Given the description of an element on the screen output the (x, y) to click on. 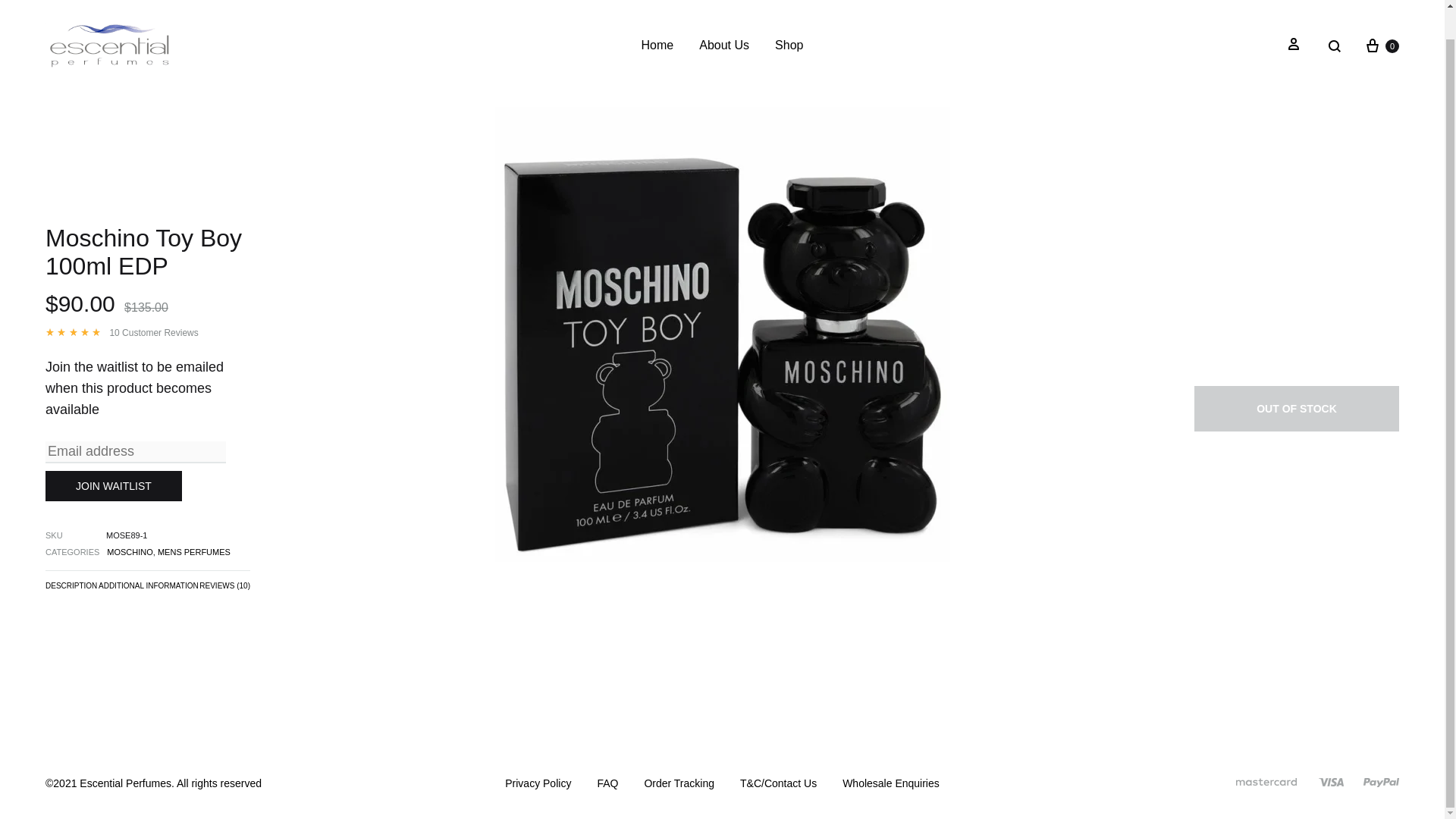
About Us (723, 45)
Order Tracking (678, 783)
MENS PERFUMES (193, 551)
0 (1380, 45)
MOSCHINO (129, 551)
FAQ (606, 783)
JOIN WAITLIST (113, 485)
Shop (788, 45)
Privacy Policy (537, 783)
DESCRIPTION (71, 588)
Home (658, 45)
ADDITIONAL INFORMATION (148, 588)
10 Customer Reviews (153, 332)
Wholesale Enquiries (891, 783)
